Given the description of an element on the screen output the (x, y) to click on. 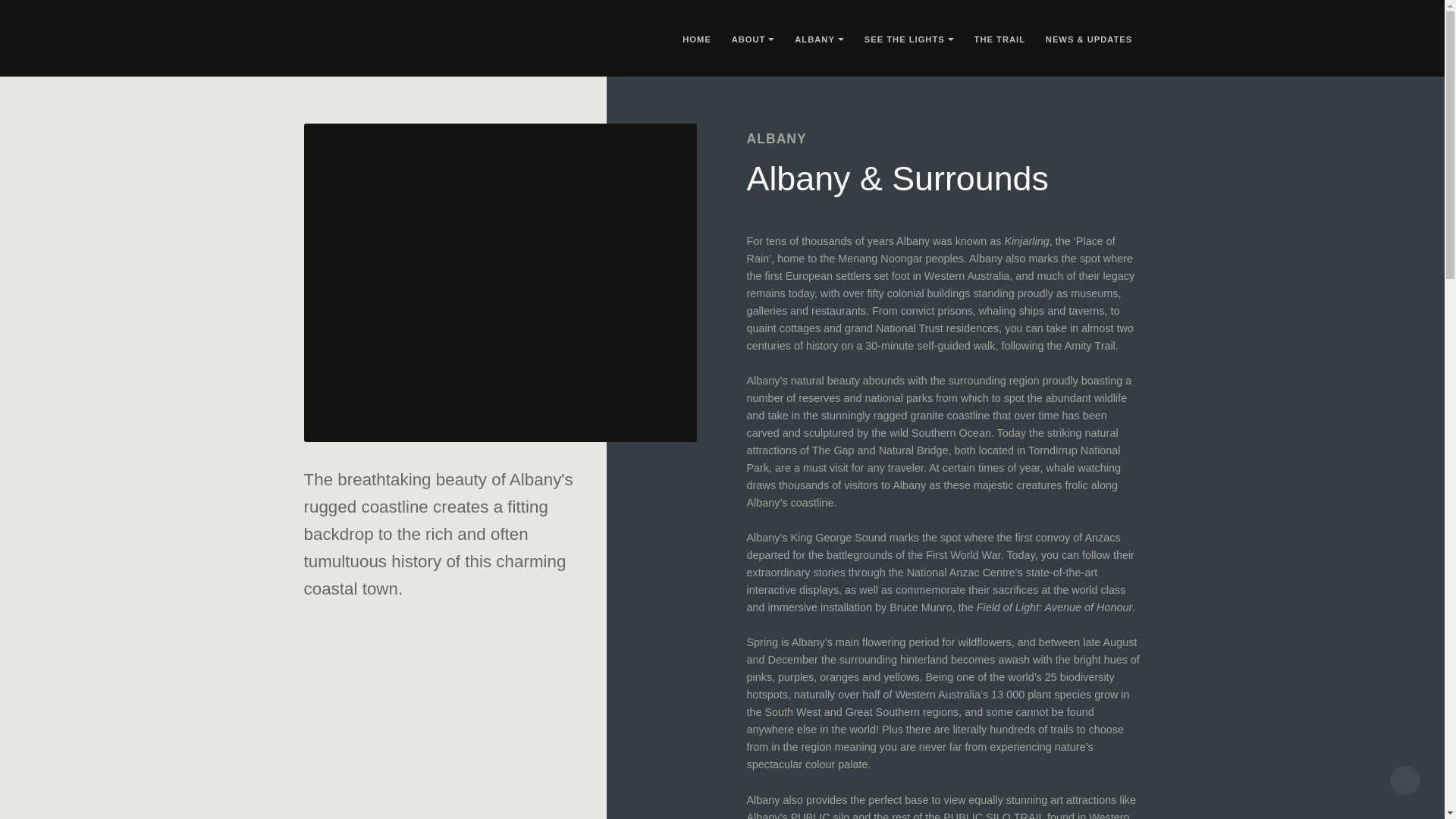
ALBANY Element type: text (814, 40)
SEE THE LIGHTS Element type: text (904, 40)
NEWS & UPDATES Element type: text (1088, 38)
THE TRAIL Element type: text (999, 38)
ABOUT Element type: text (748, 40)
HOME Element type: text (696, 38)
